Given the description of an element on the screen output the (x, y) to click on. 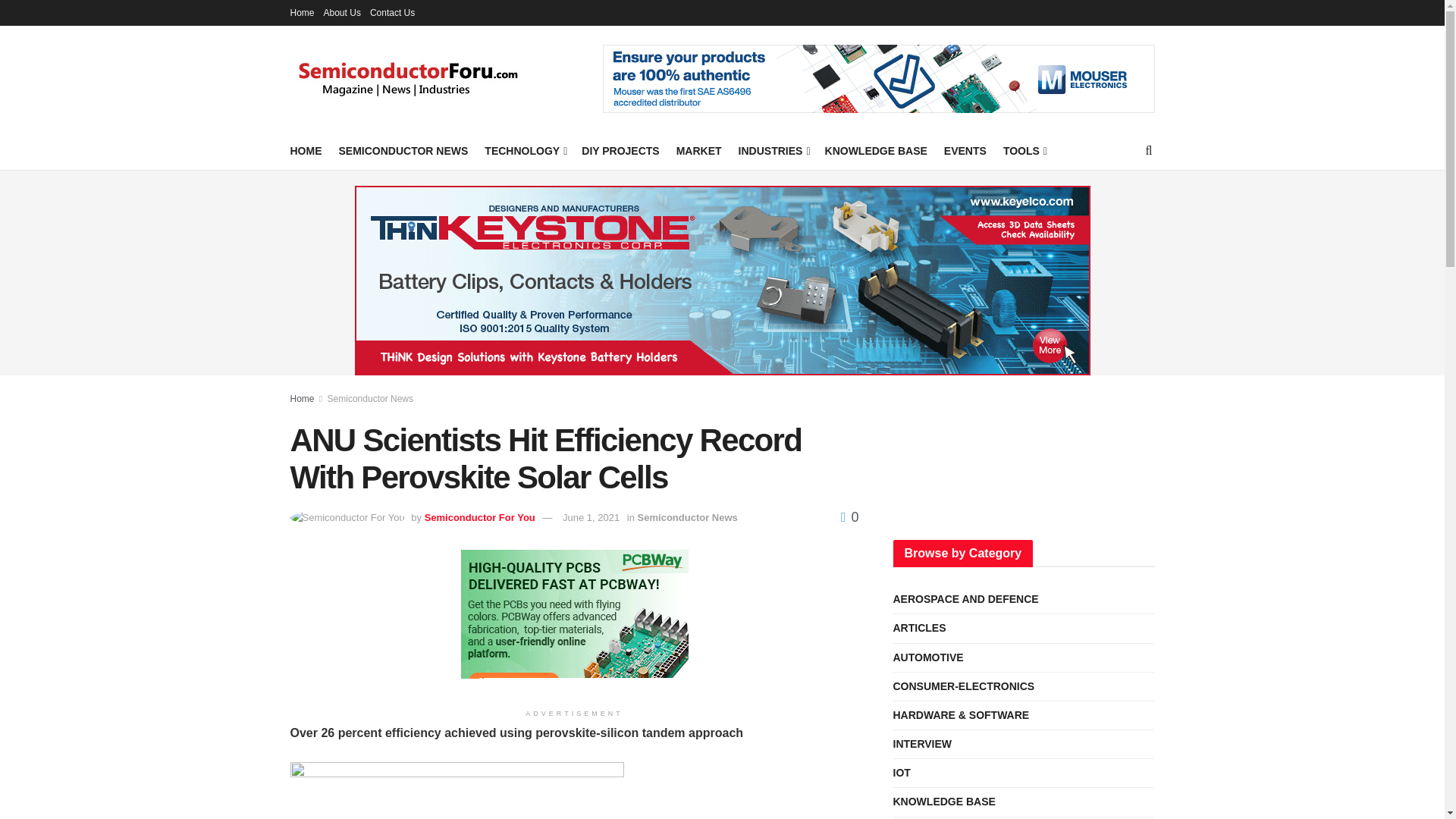
Contact Us (391, 12)
HOME (305, 150)
DIY PROJECTS (619, 150)
Home (301, 12)
KNOWLEDGE BASE (876, 150)
About Us (342, 12)
SEMICONDUCTOR NEWS (402, 150)
INDUSTRIES (773, 150)
MARKET (699, 150)
TOOLS (1024, 150)
